Given the description of an element on the screen output the (x, y) to click on. 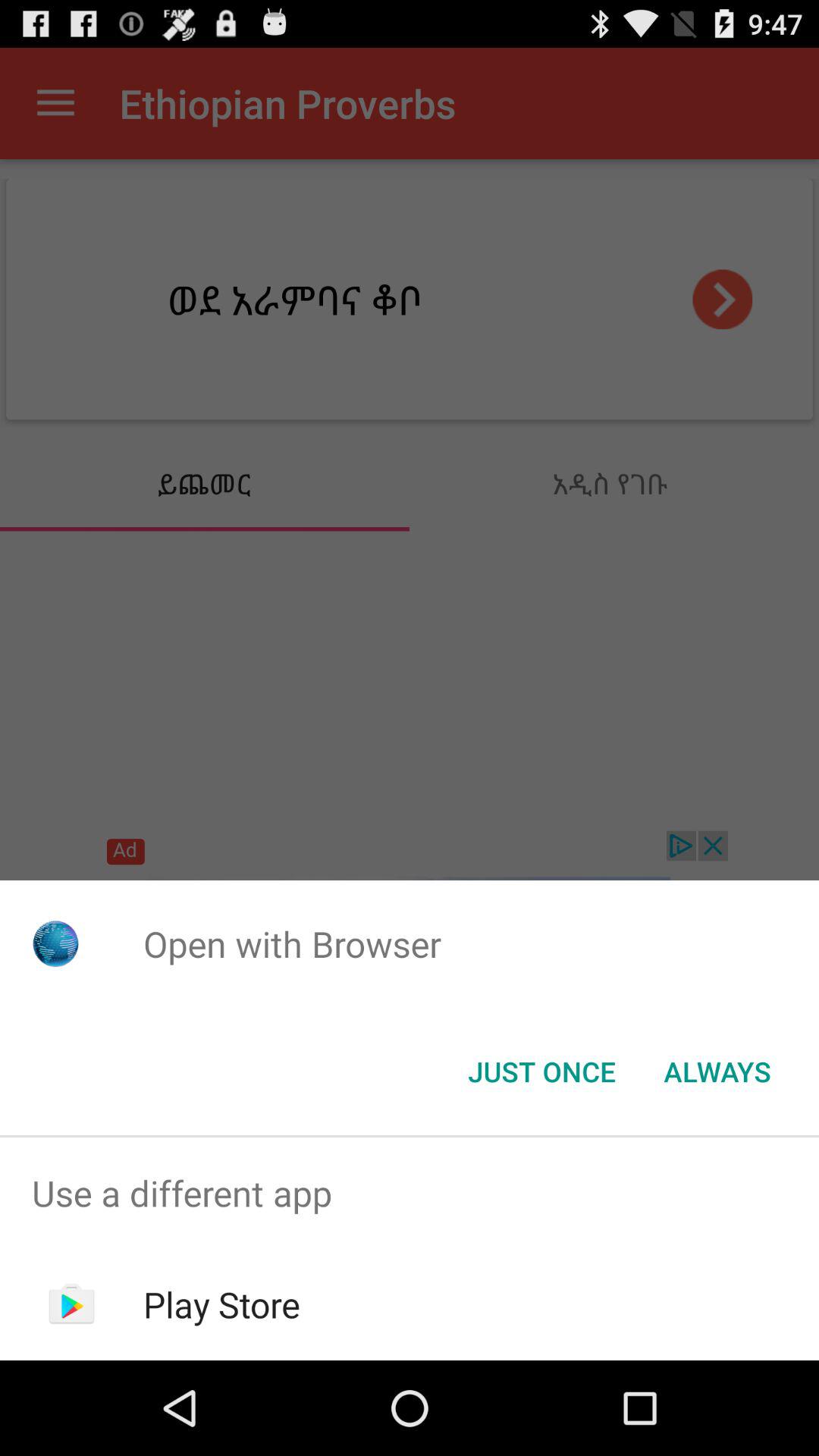
turn on use a different icon (409, 1192)
